Given the description of an element on the screen output the (x, y) to click on. 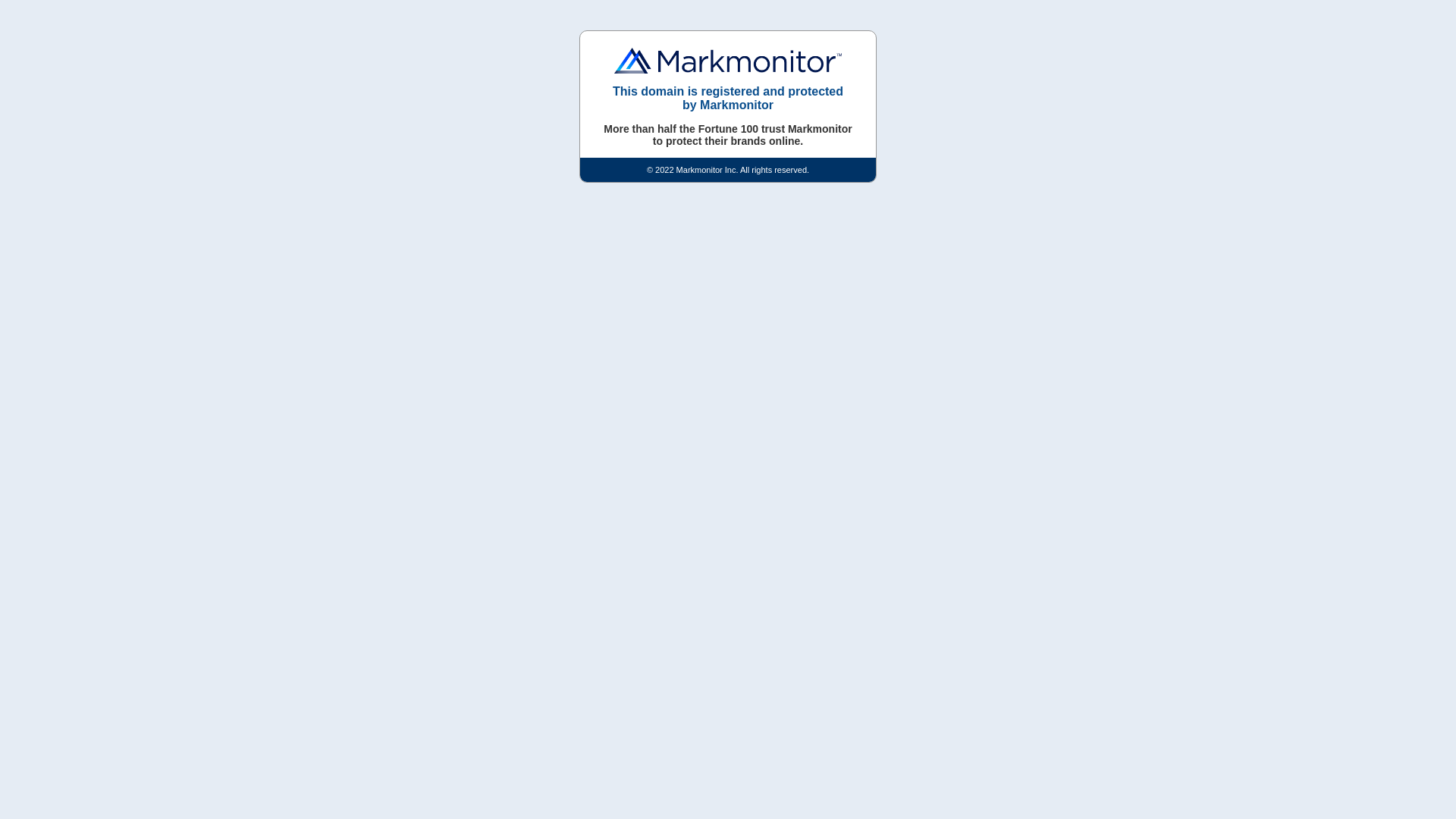
Markmonitor Element type: hover (727, 60)
